Given the description of an element on the screen output the (x, y) to click on. 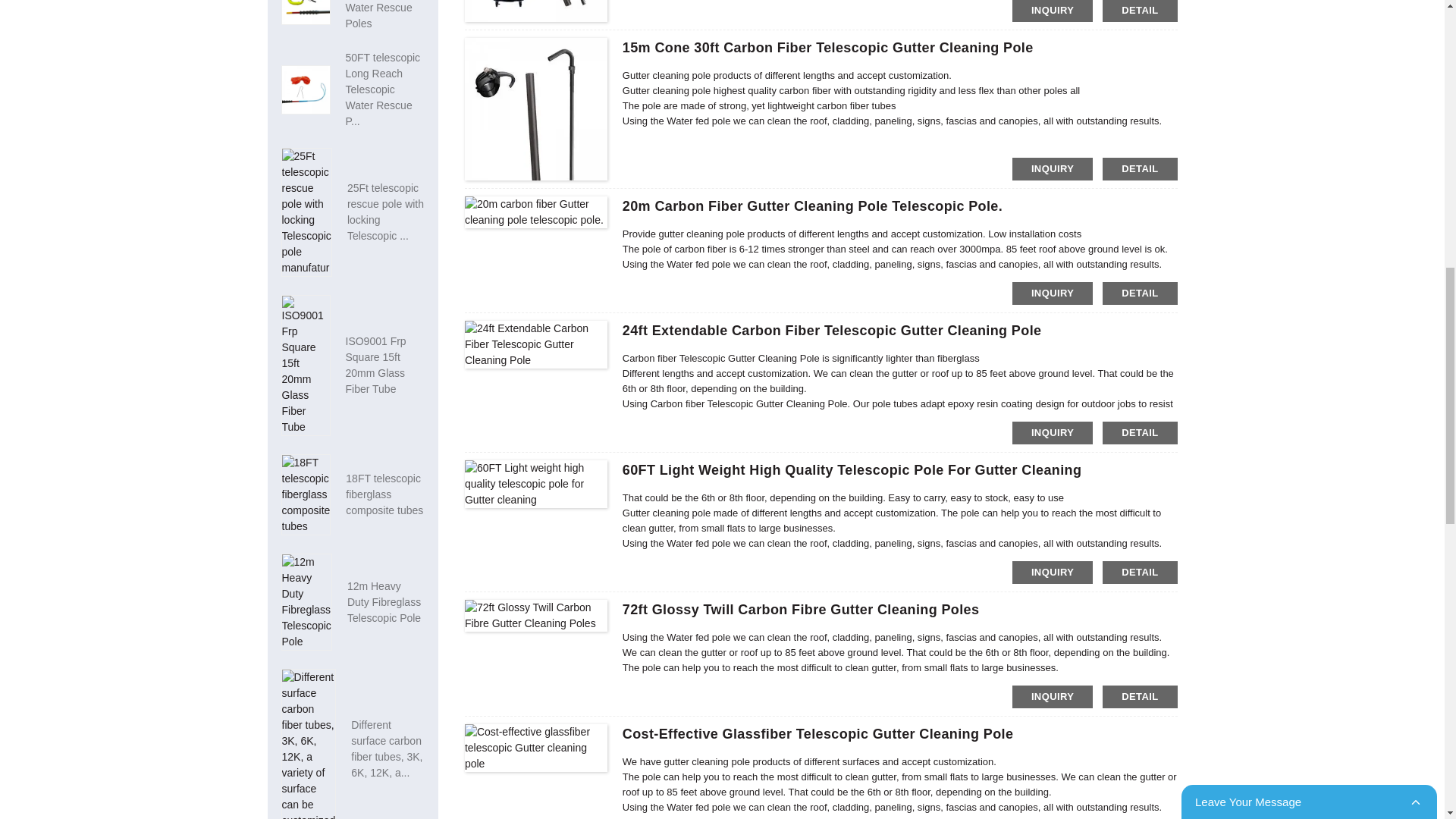
72ft Glossy Twill Carbon Fibre Gutter Cleaning Poles (801, 609)
24ft Extendable Carbon Fiber Telescopic Gutter Cleaning Pole (832, 330)
20m carbon fiber Gutter cleaning pole telescopic pole. (813, 206)
15m cone 30ft carbon fiber telescopic Gutter cleaning pole (828, 47)
